Given the description of an element on the screen output the (x, y) to click on. 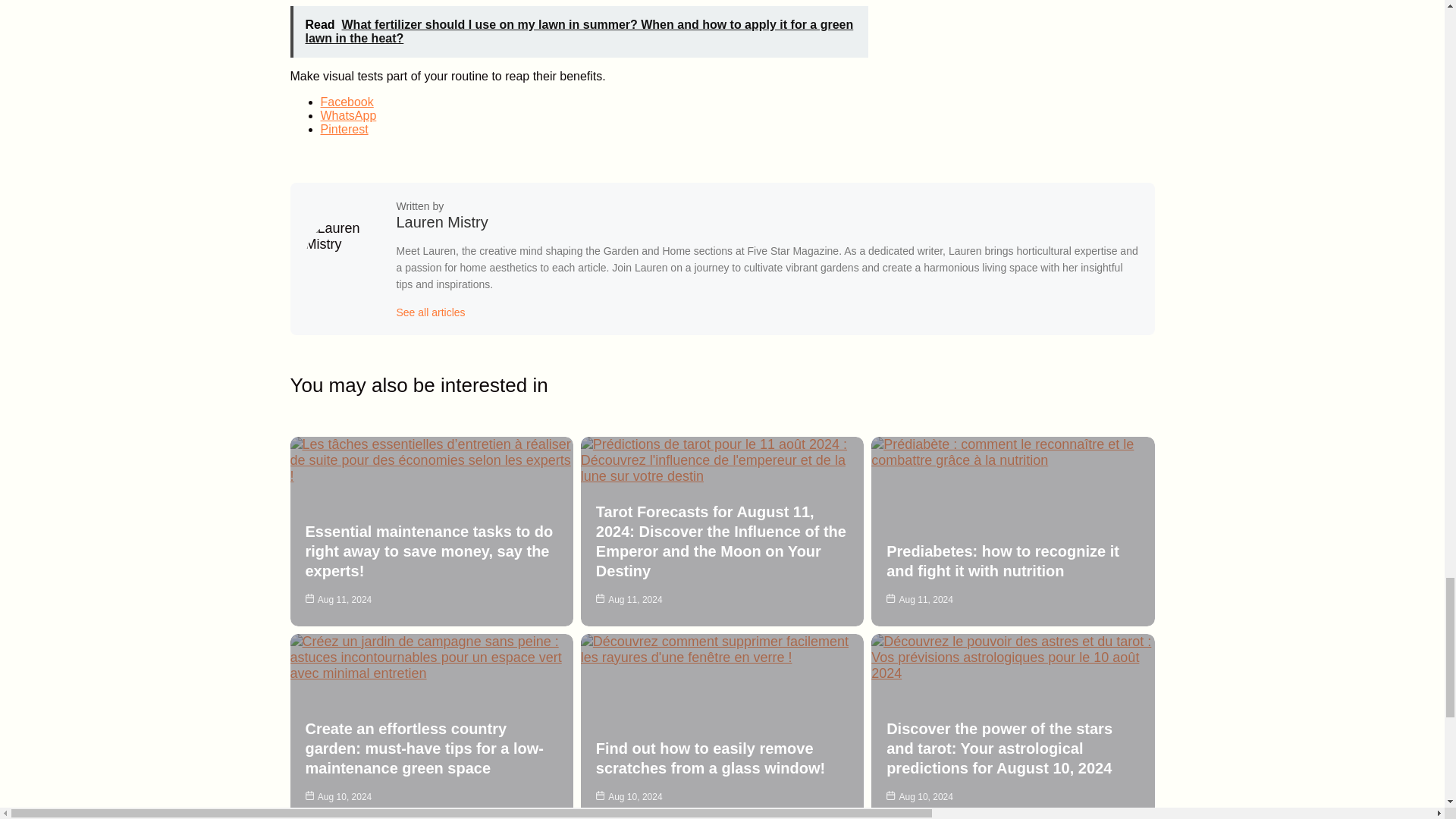
Lauren Mistry (441, 221)
Pinterest (344, 128)
Share on WhatsApp (347, 115)
See all articles (430, 312)
Prediabetes: how to recognize it and fight it with nutrition (1002, 560)
Facebook (346, 101)
